Given the description of an element on the screen output the (x, y) to click on. 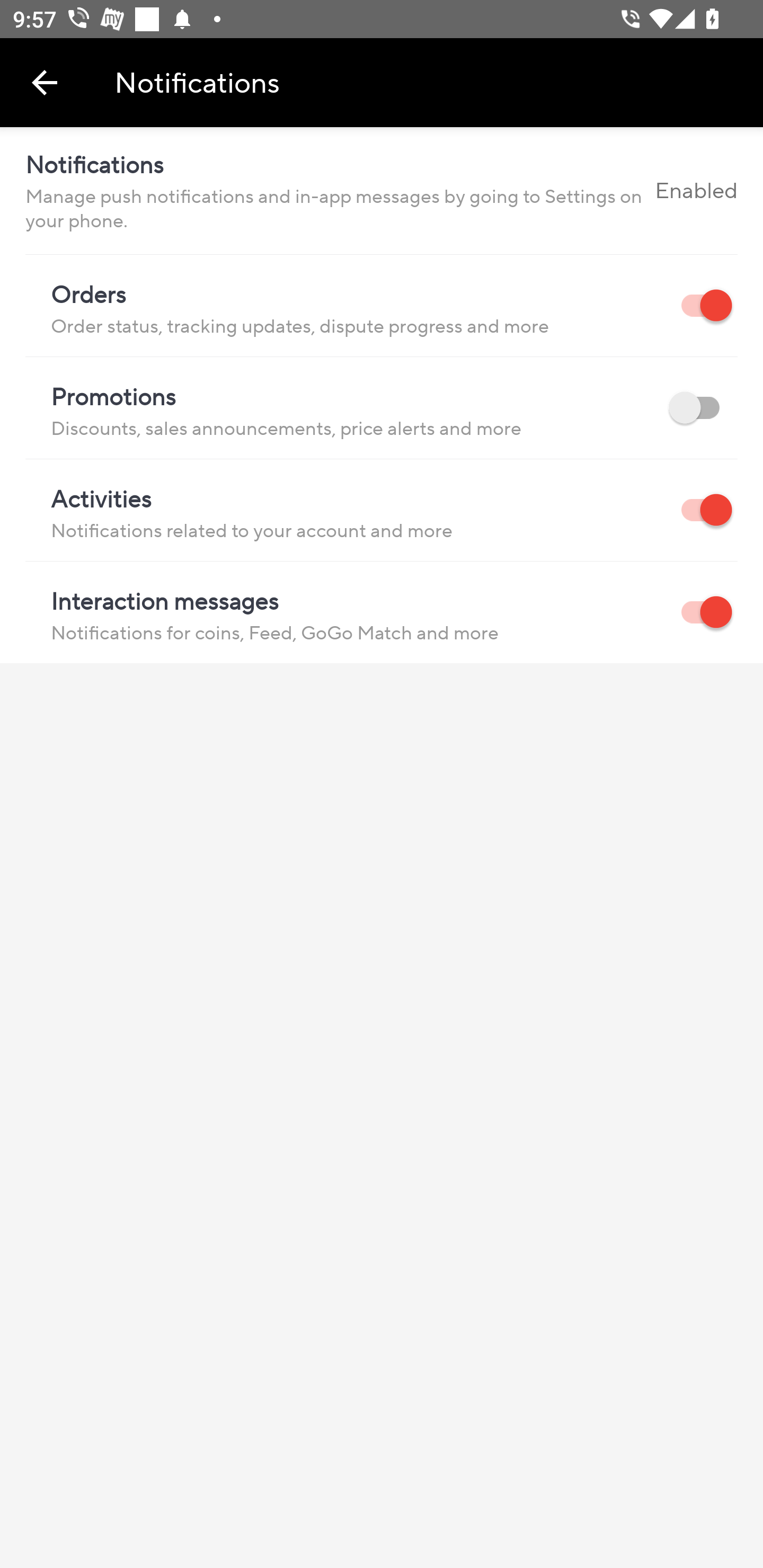
Navigate up (44, 82)
